Given the description of an element on the screen output the (x, y) to click on. 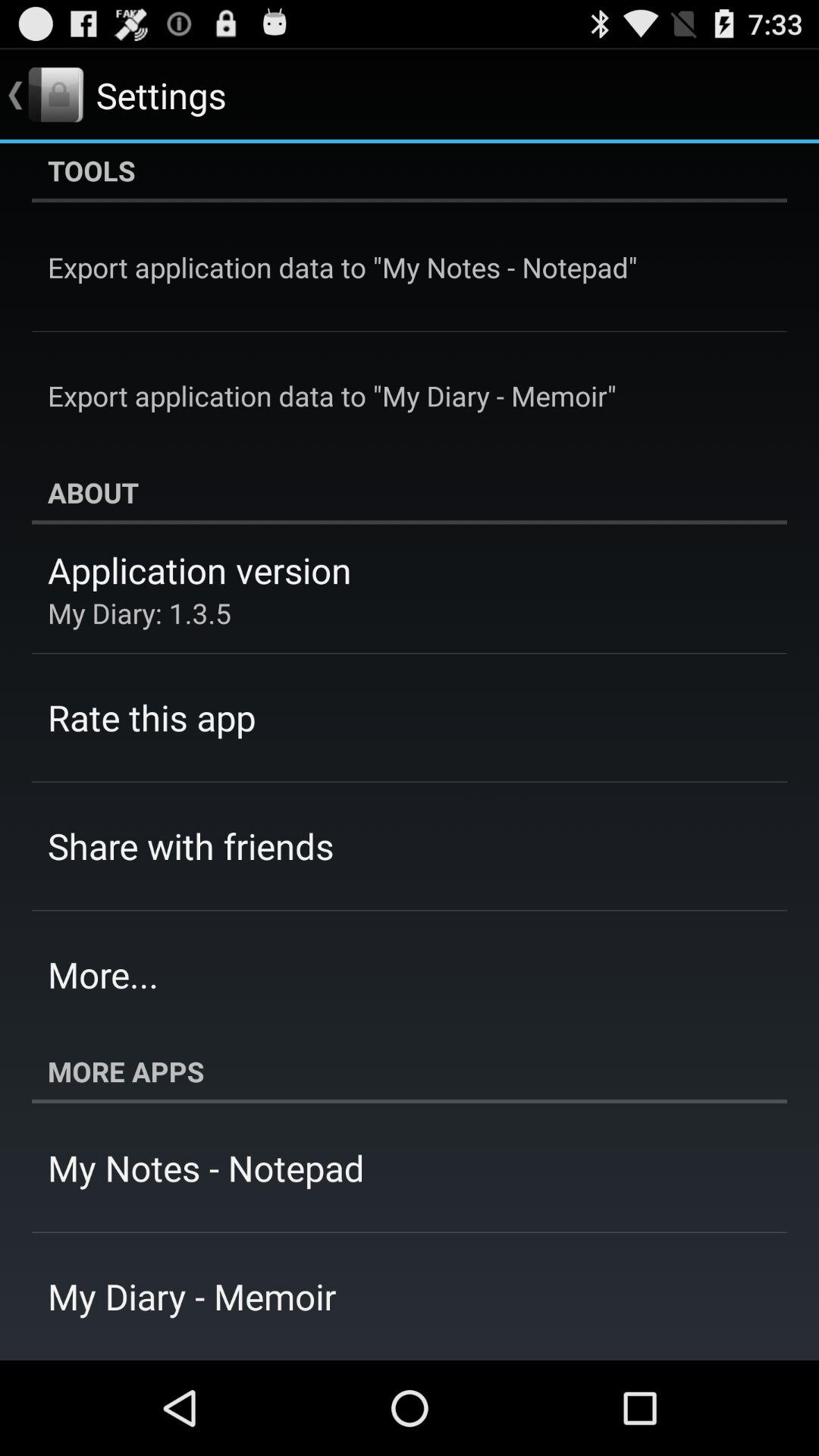
scroll to about app (409, 492)
